Given the description of an element on the screen output the (x, y) to click on. 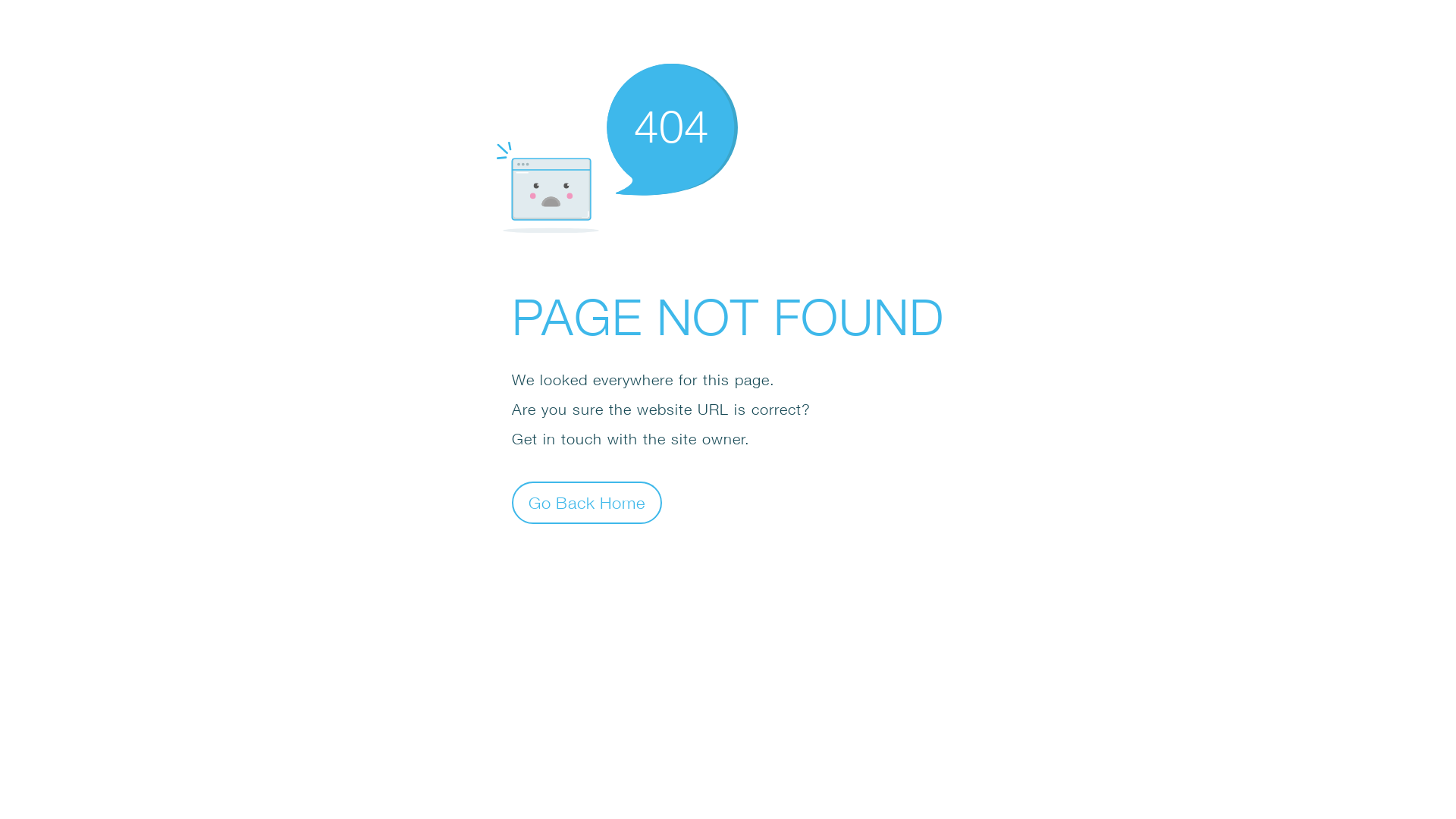
Go Back Home Element type: text (586, 502)
